Given the description of an element on the screen output the (x, y) to click on. 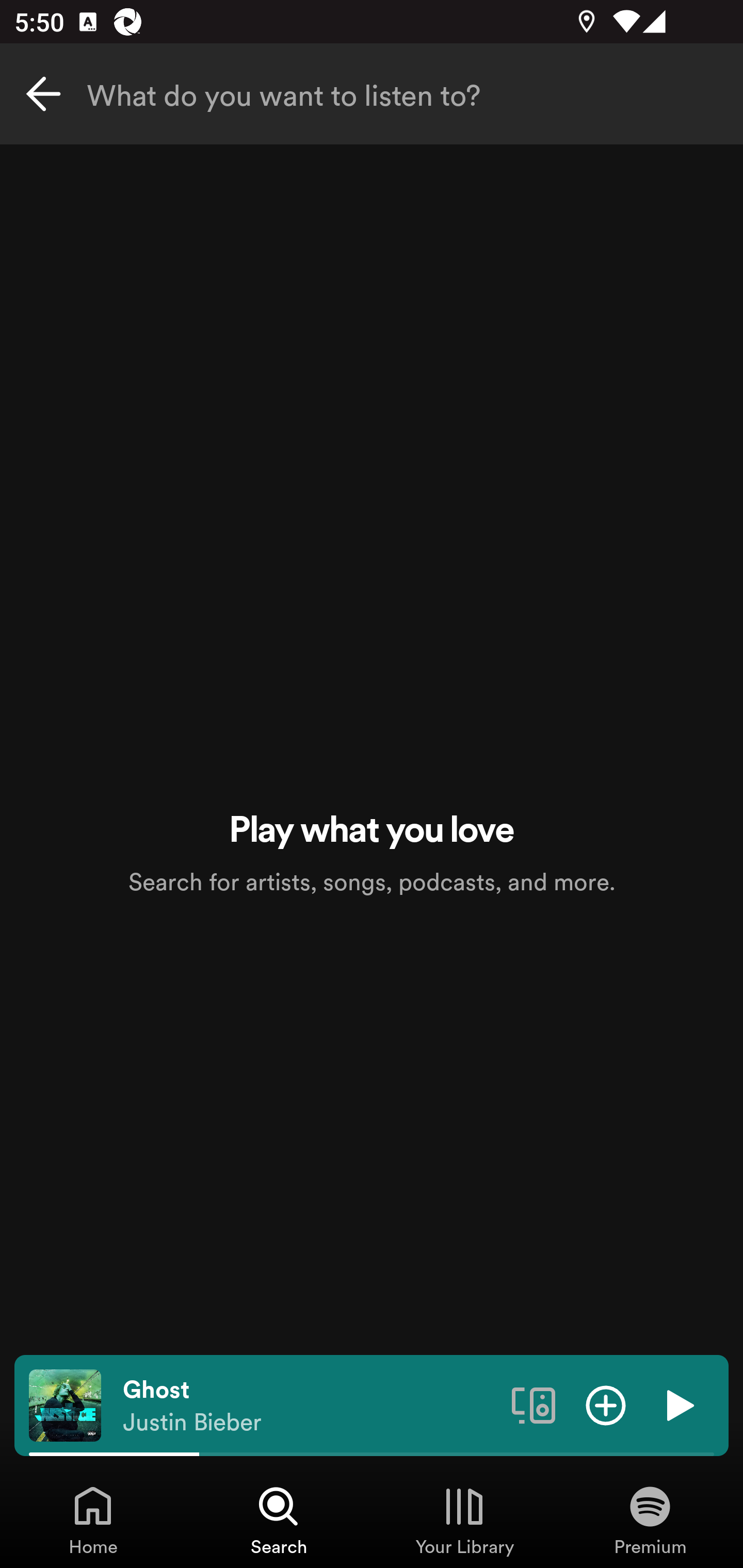
What do you want to listen to? (371, 93)
Cancel (43, 93)
Ghost Justin Bieber (309, 1405)
The cover art of the currently playing track (64, 1404)
Connect to a device. Opens the devices menu (533, 1404)
Add item (605, 1404)
Play (677, 1404)
Home, Tab 1 of 4 Home Home (92, 1519)
Search, Tab 2 of 4 Search Search (278, 1519)
Your Library, Tab 3 of 4 Your Library Your Library (464, 1519)
Premium, Tab 4 of 4 Premium Premium (650, 1519)
